Given the description of an element on the screen output the (x, y) to click on. 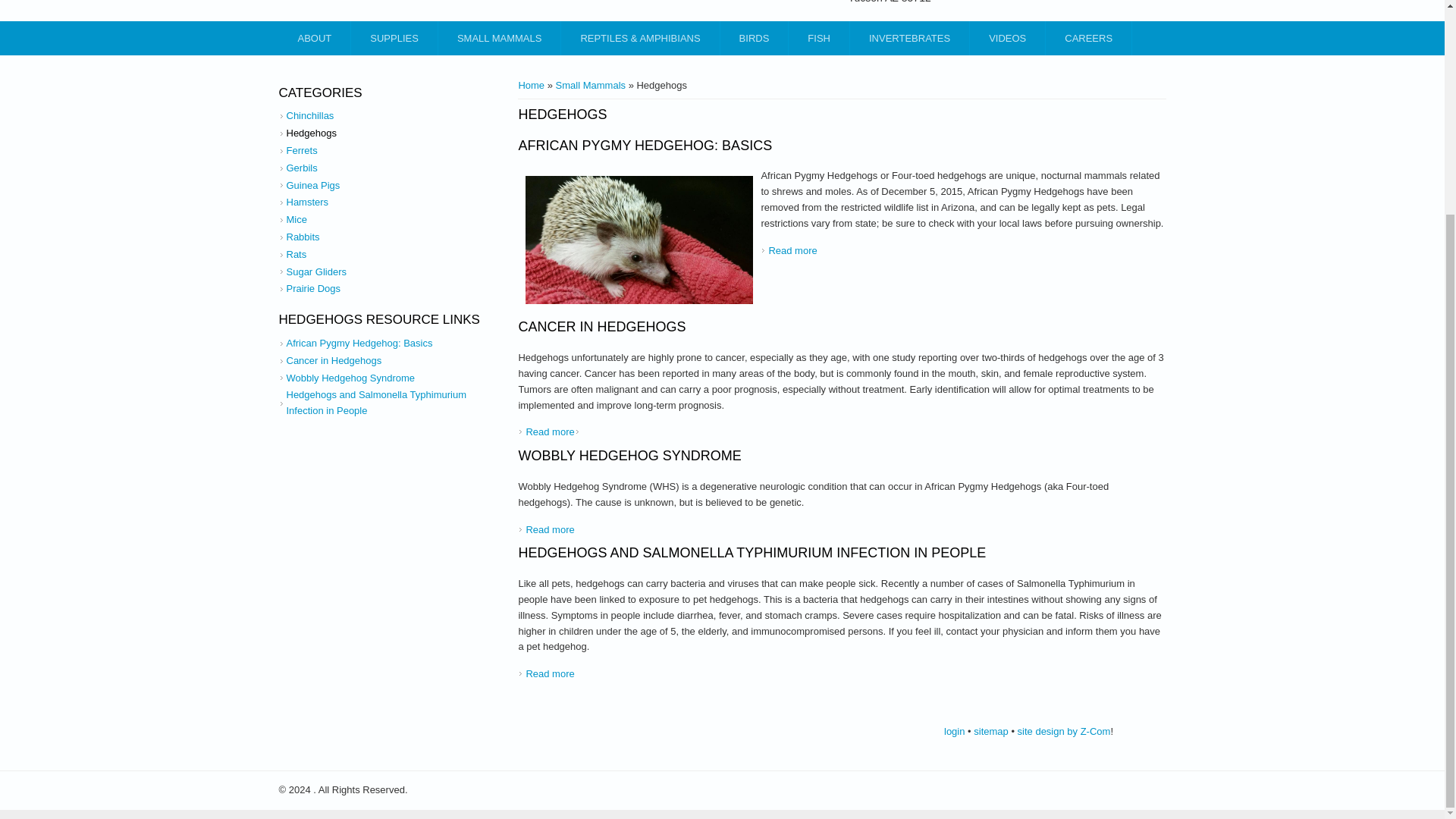
Small Mammals (500, 38)
SMALL MAMMALS (500, 38)
SUPPLIES (394, 38)
Food, dietary supplements and supplies for your exotic pets. (394, 38)
ABOUT (315, 38)
